Given the description of an element on the screen output the (x, y) to click on. 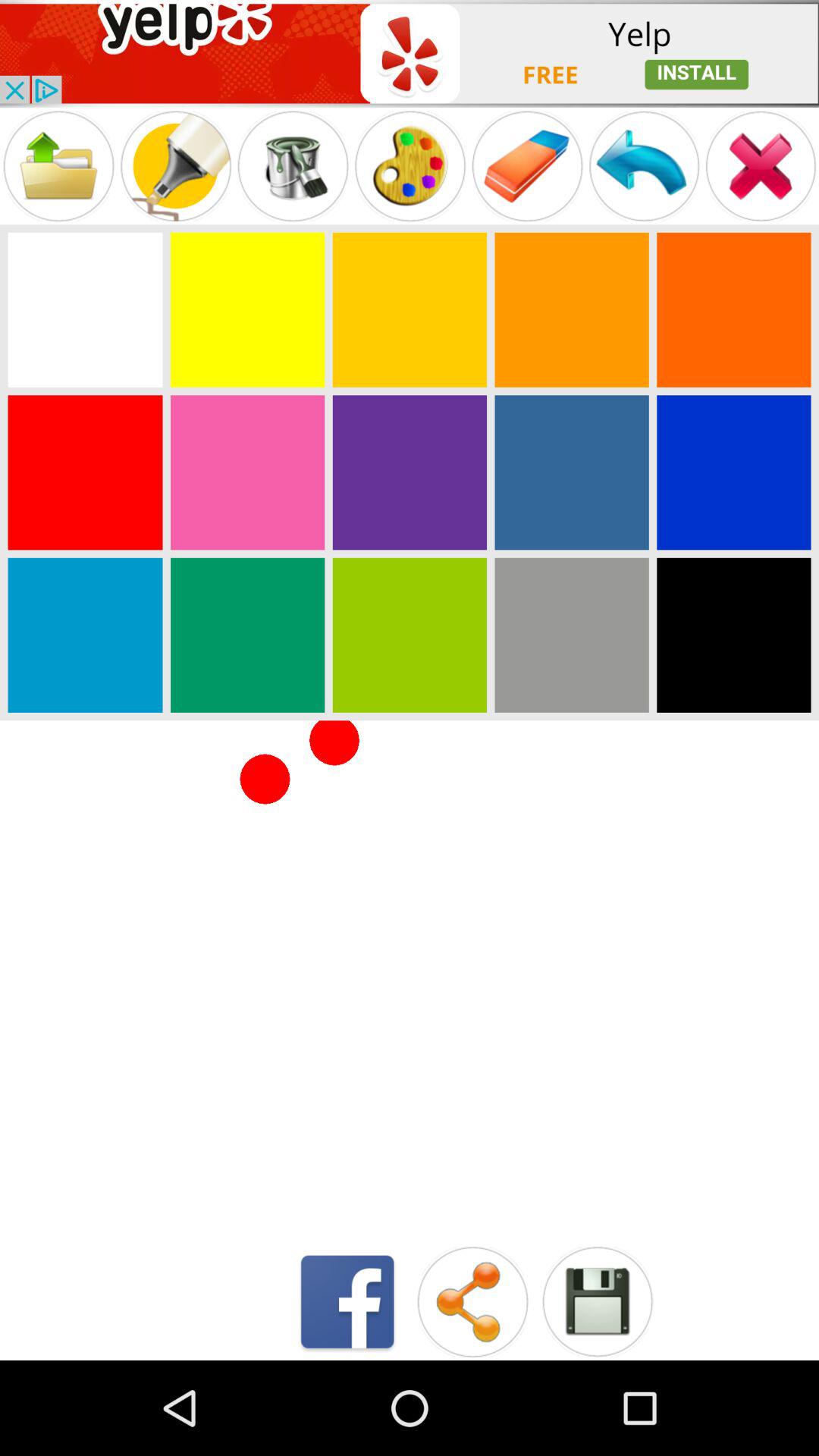
toggle brush (175, 165)
